Given the description of an element on the screen output the (x, y) to click on. 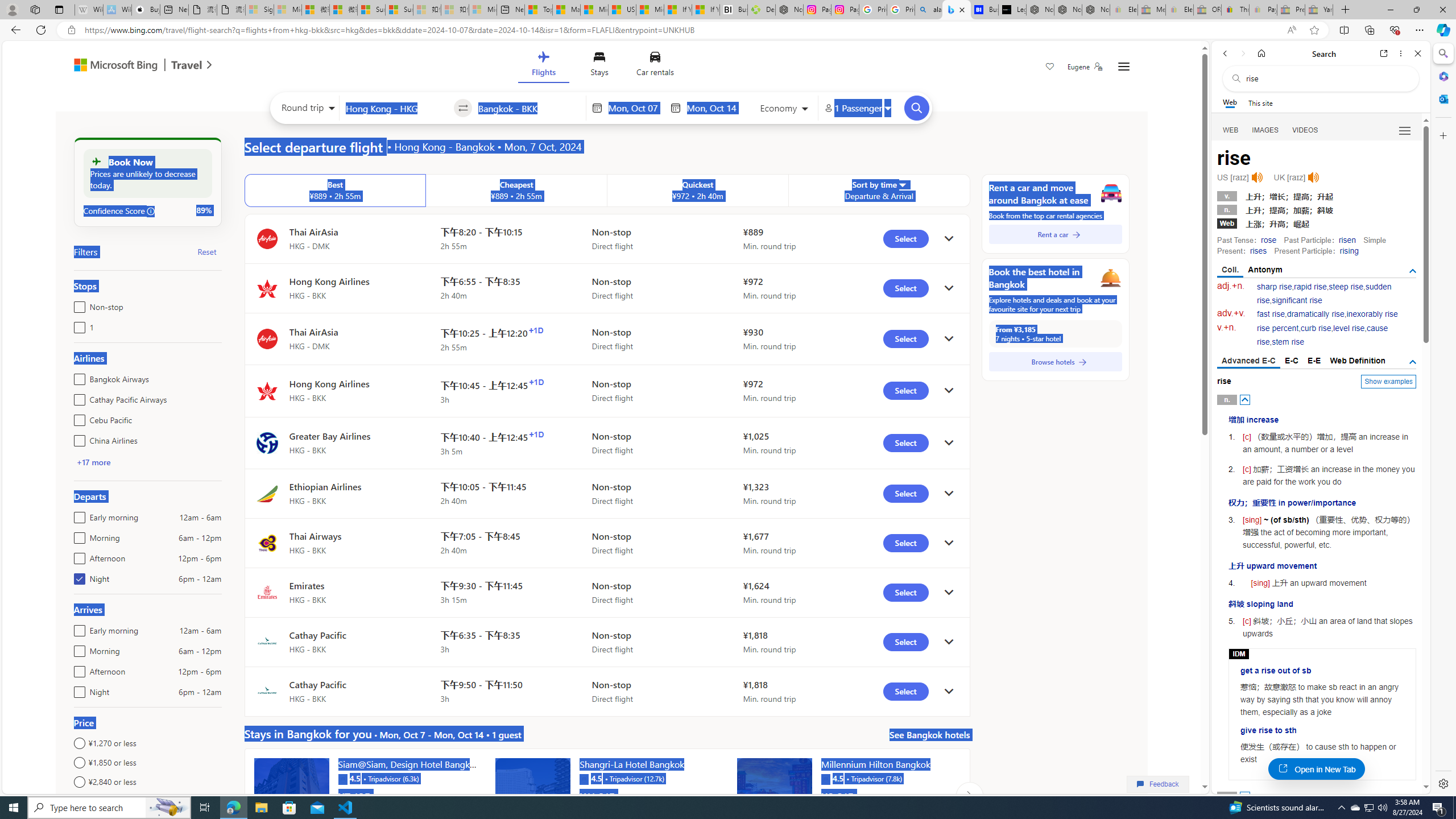
Sort by time Sorter Departure & Arrival (879, 190)
AutomationID: posbtn_0 (1245, 399)
Search Filter, VIDEOS (1304, 129)
